Given the description of an element on the screen output the (x, y) to click on. 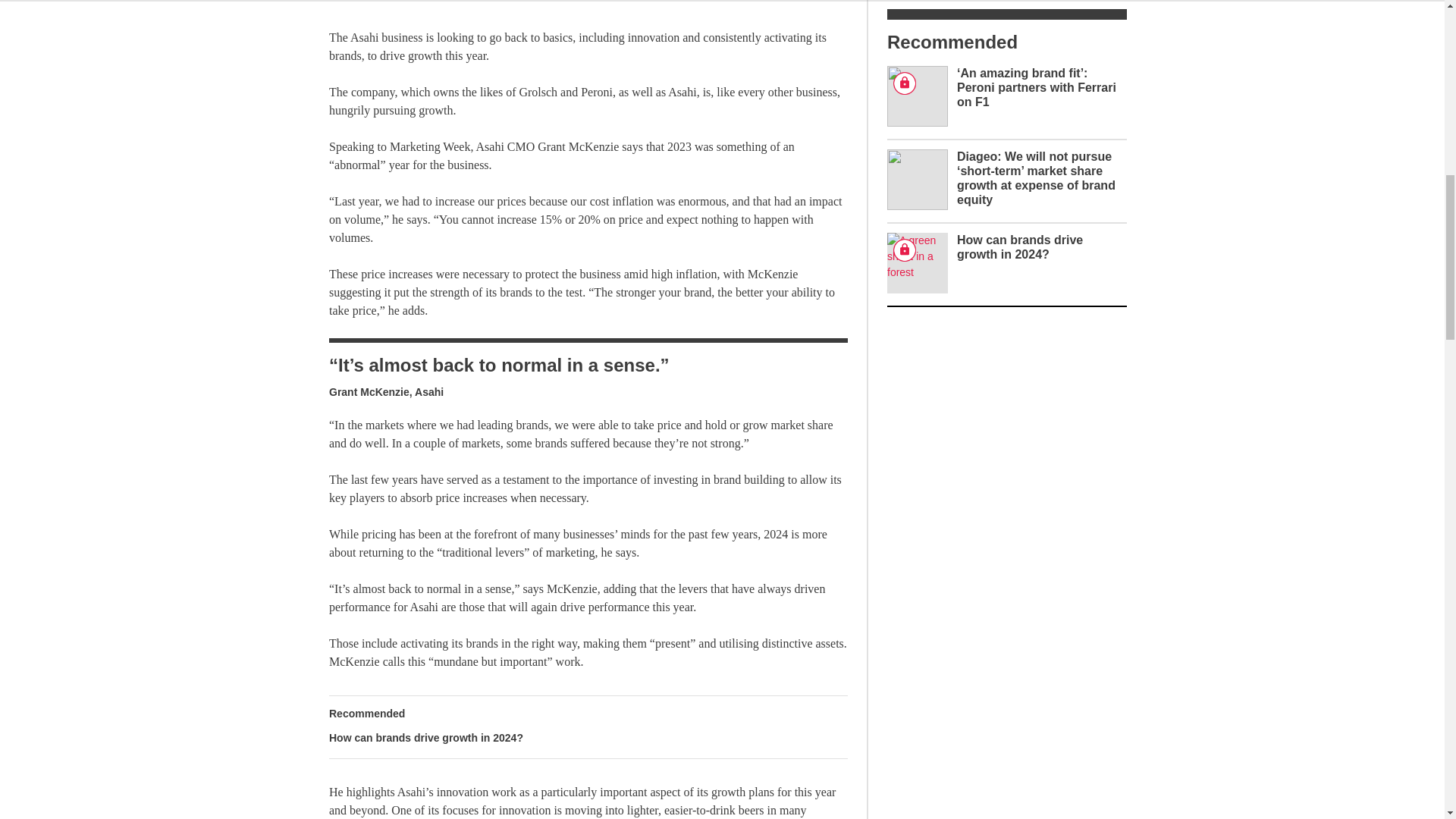
How can brands drive growth in 2024? (588, 727)
